Given the description of an element on the screen output the (x, y) to click on. 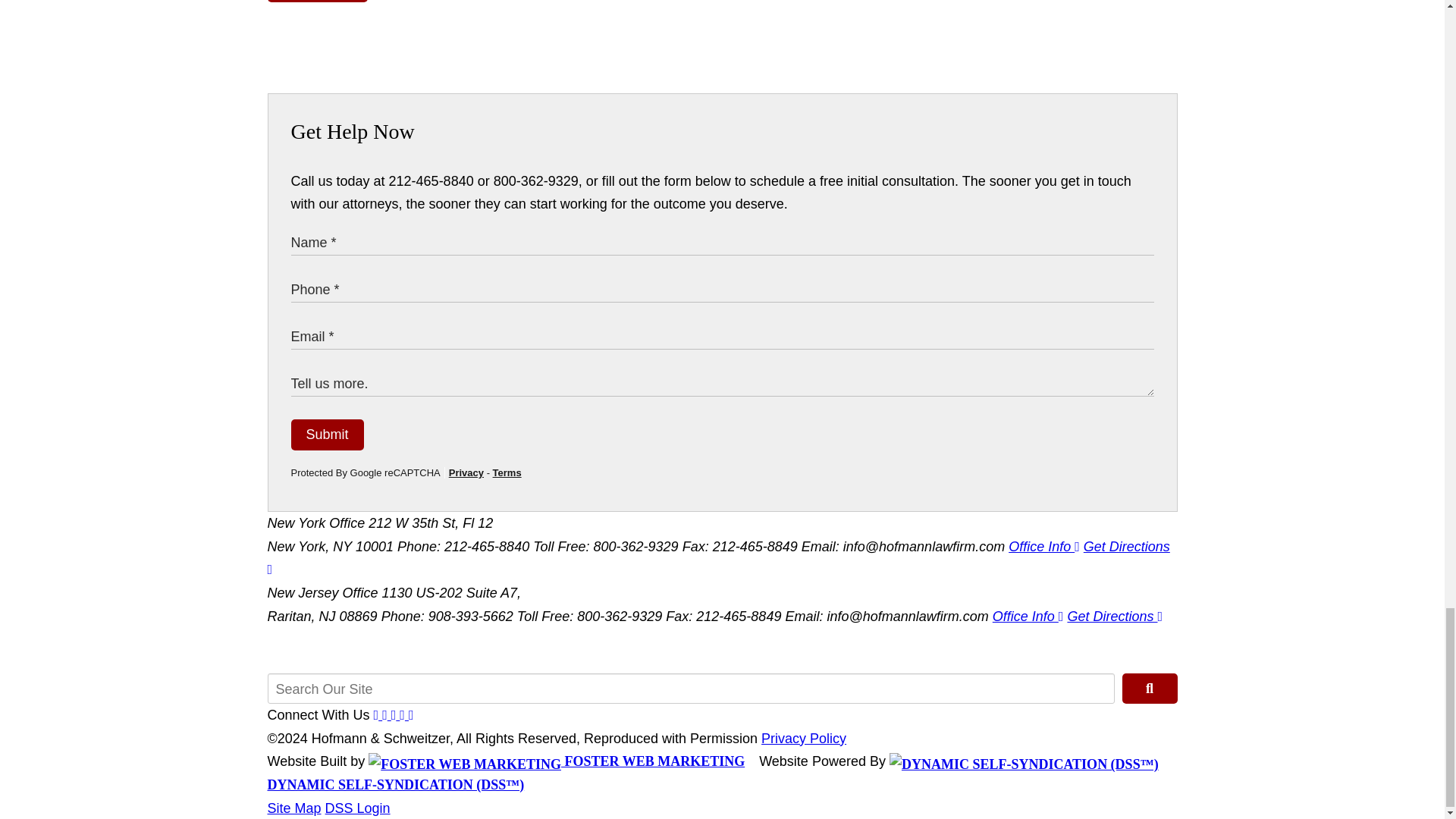
Search (1149, 688)
